Given the description of an element on the screen output the (x, y) to click on. 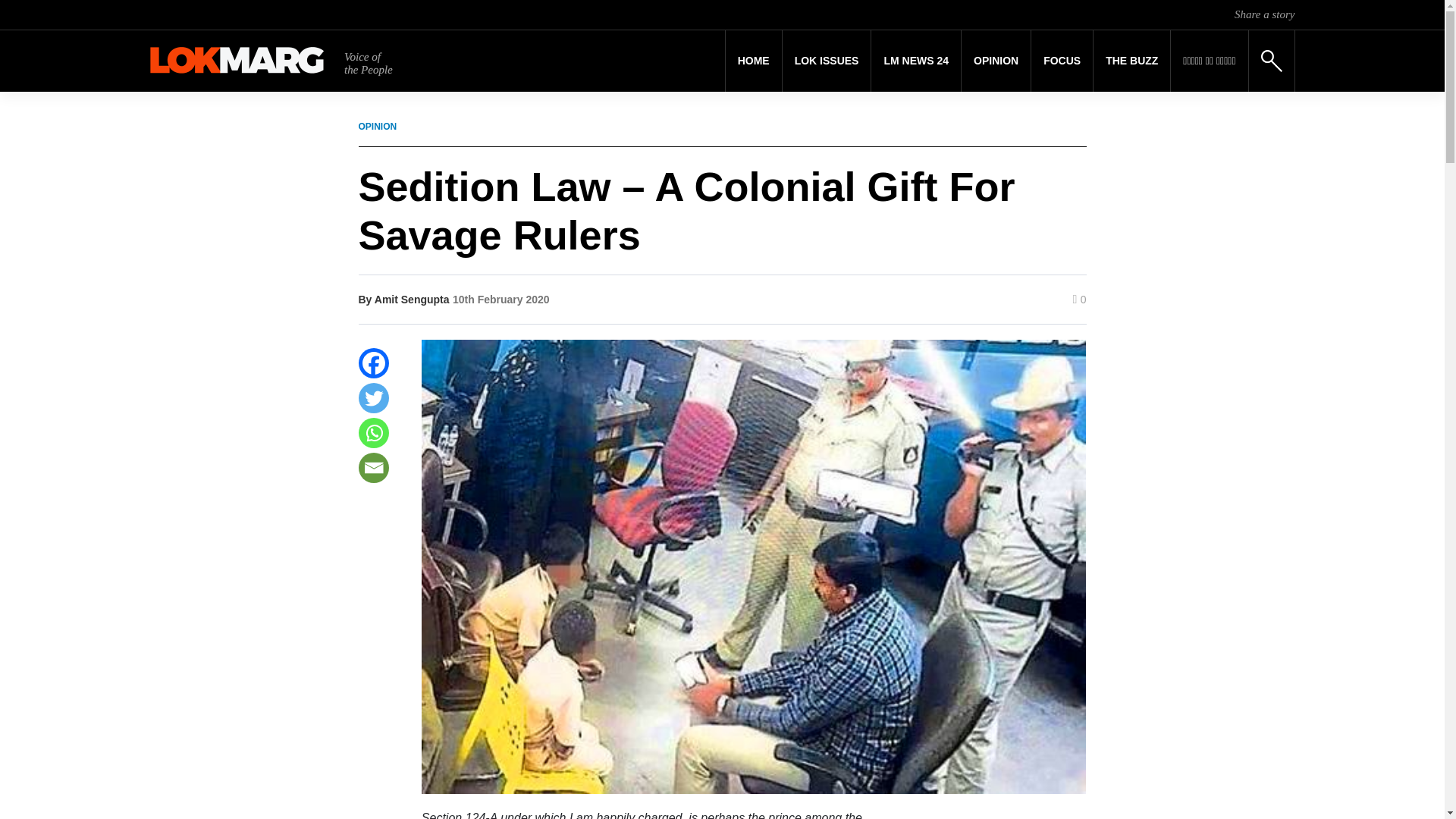
THE BUZZ (1131, 60)
Lok Issues (826, 60)
OPINION (995, 60)
Home (753, 60)
Facebook (373, 363)
Share a story (1264, 14)
Amit Sengupta (411, 299)
Focus (1061, 60)
LOK ISSUES (826, 60)
THE BUZZ (1131, 60)
LM News 24 (915, 60)
LM NEWS 24 (915, 60)
Opinion (995, 60)
Twitter (373, 398)
Whatsapp (373, 432)
